Given the description of an element on the screen output the (x, y) to click on. 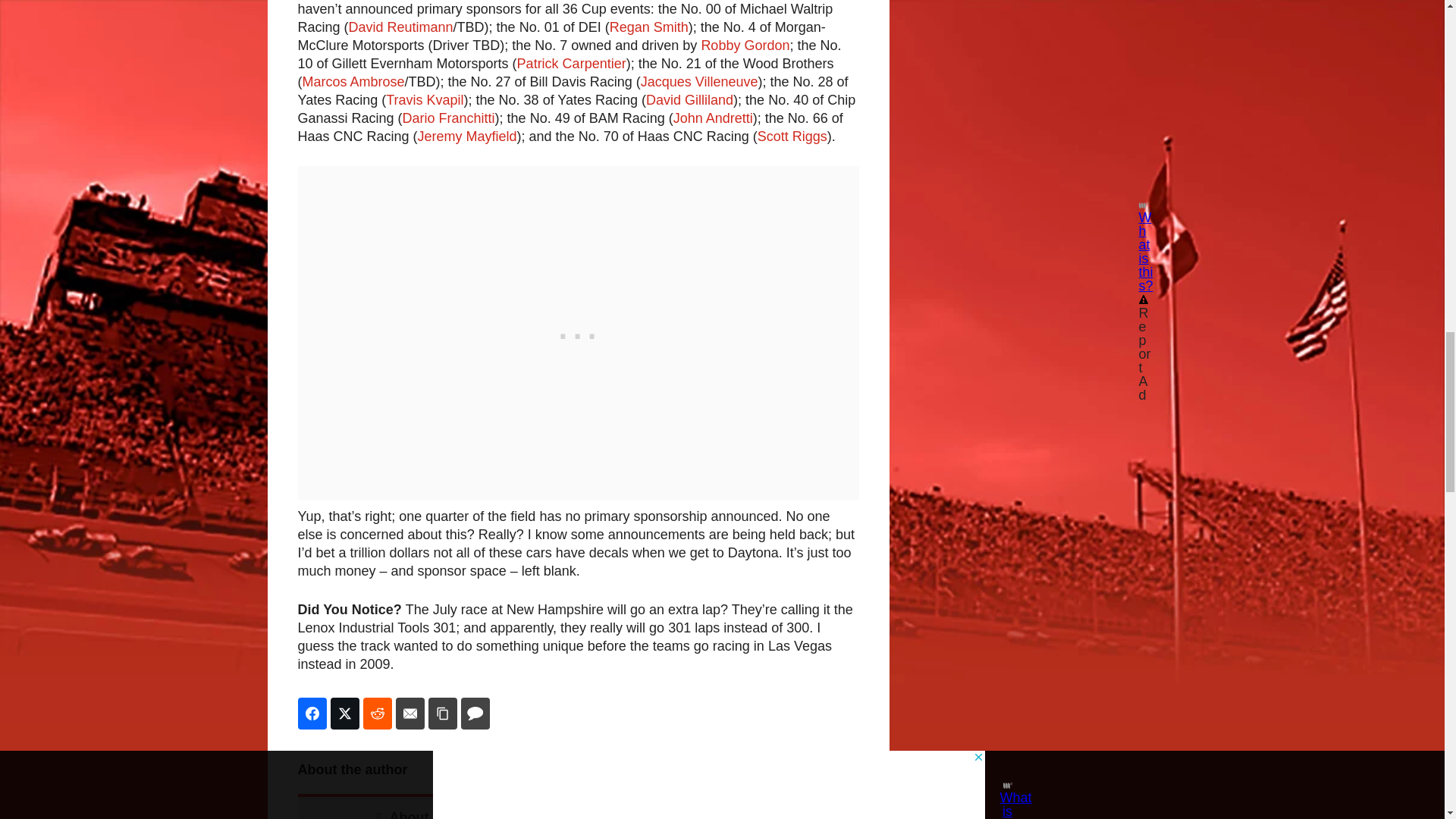
Patrick Carpentier (571, 63)
John Andretti (712, 118)
Share on Email (410, 713)
Share on Twitter (344, 713)
Jeremy Mayfield (466, 136)
Scott Riggs (792, 136)
3rd party ad content (1040, 6)
Robby Gordon (744, 45)
Regan Smith (649, 27)
Share on Facebook (311, 713)
David Reutimann (400, 27)
Dario Franchitti (449, 118)
Marcos Ambrose (352, 81)
Jacques Villeneuve (699, 81)
Share on Copy Link (442, 713)
